Given the description of an element on the screen output the (x, y) to click on. 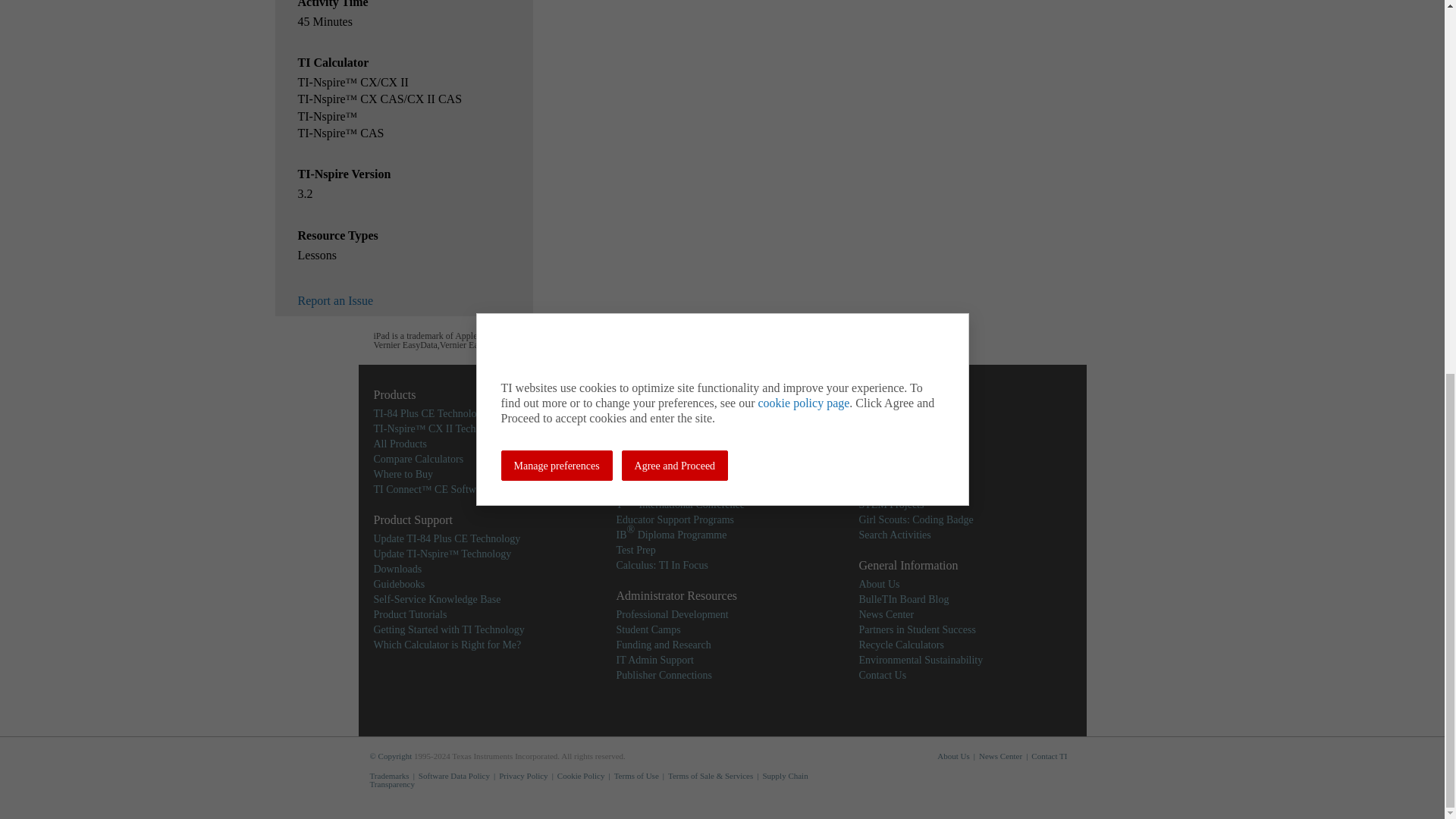
Compare Calculators (417, 459)
Guidebooks (398, 583)
Self-Service Knowledge Base  (436, 599)
TI Connect CE Software (430, 489)
Getting Started with TI Technology (448, 629)
Where to Buy (402, 473)
Which Calculator is Right for Me? (446, 644)
All Products (399, 443)
Downloads (397, 568)
Math (627, 413)
